Given the description of an element on the screen output the (x, y) to click on. 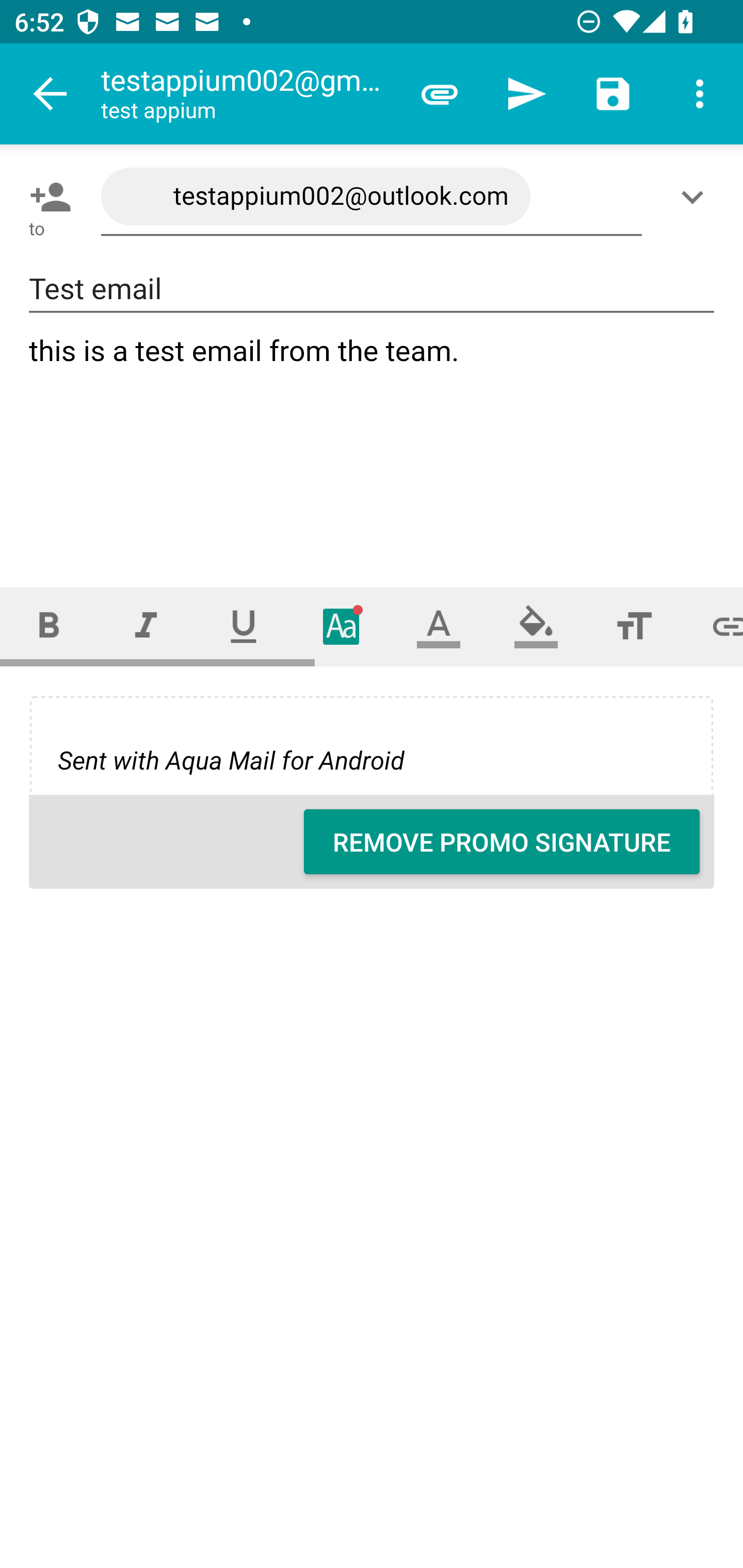
Navigate up (50, 93)
testappium002@gmail.com test appium (248, 93)
Attach (439, 93)
Send (525, 93)
Save (612, 93)
More options (699, 93)
testappium002@outlook.com,  (371, 197)
Pick contact: To (46, 196)
Show/Add CC/BCC (696, 196)
Test email (371, 288)
this is a test email from the team. (372, 442)
Bold (48, 626)
Italic (145, 626)
Underline (243, 626)
Typeface (font) (341, 626)
Text color (438, 626)
Fill color (536, 626)
Font size (633, 626)
REMOVE PROMO SIGNATURE (501, 841)
